Given the description of an element on the screen output the (x, y) to click on. 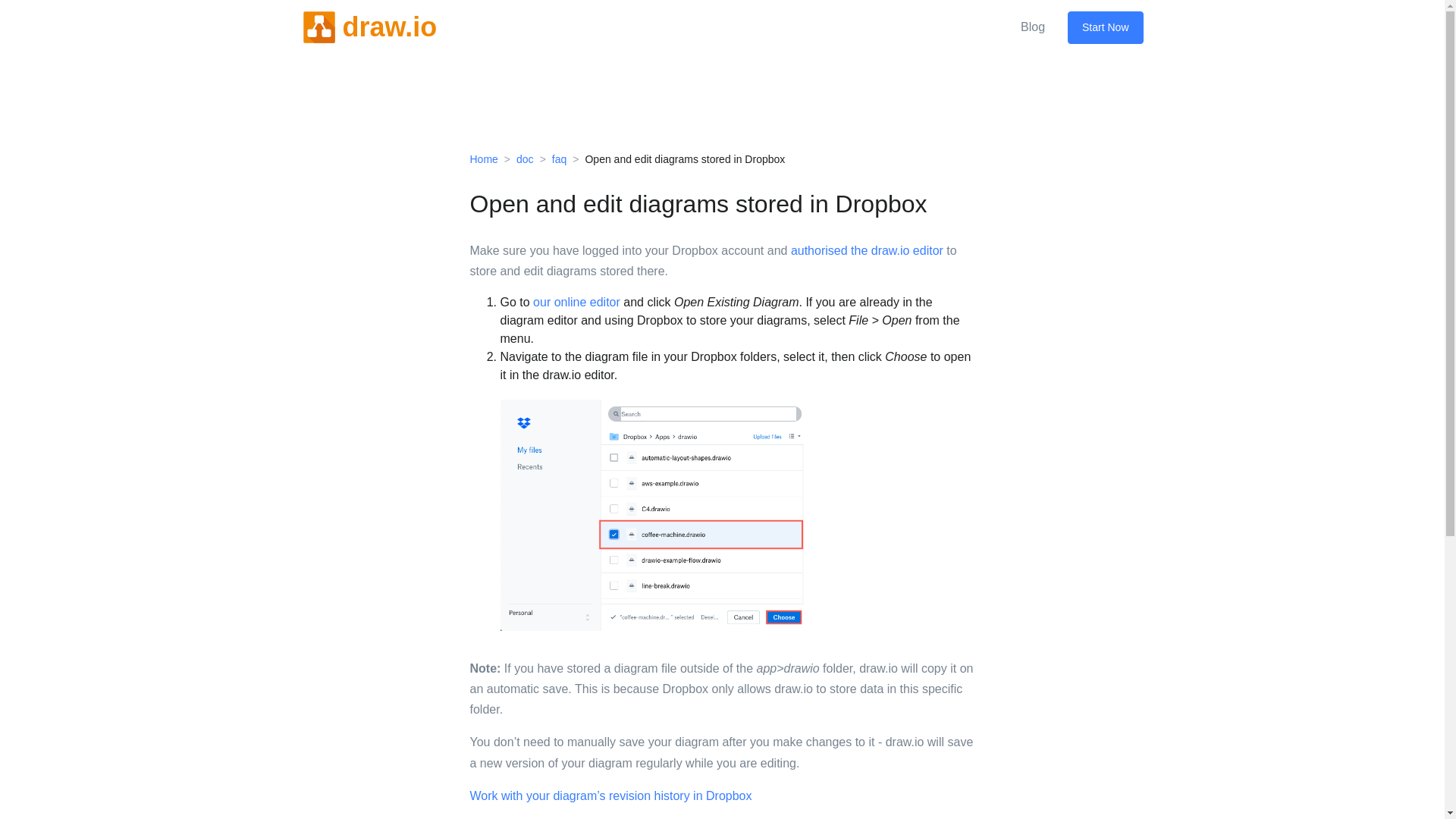
draw.io (369, 26)
our online editor (576, 301)
authorised the draw.io editor (866, 250)
Open and edit diagrams stored in Dropbox (684, 159)
faq (558, 159)
doc (525, 159)
Home (483, 159)
Start Now (1104, 26)
